Given the description of an element on the screen output the (x, y) to click on. 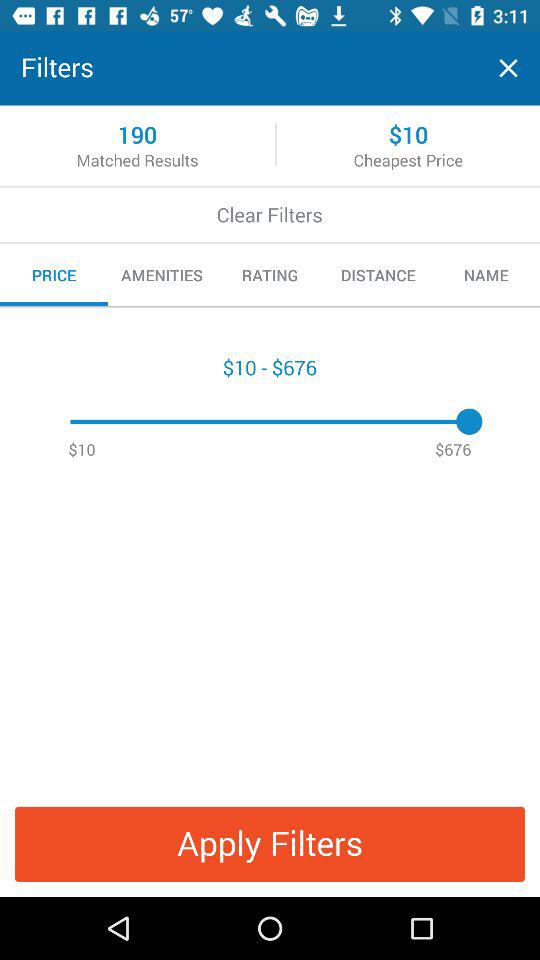
click the item next to the price (162, 275)
